Given the description of an element on the screen output the (x, y) to click on. 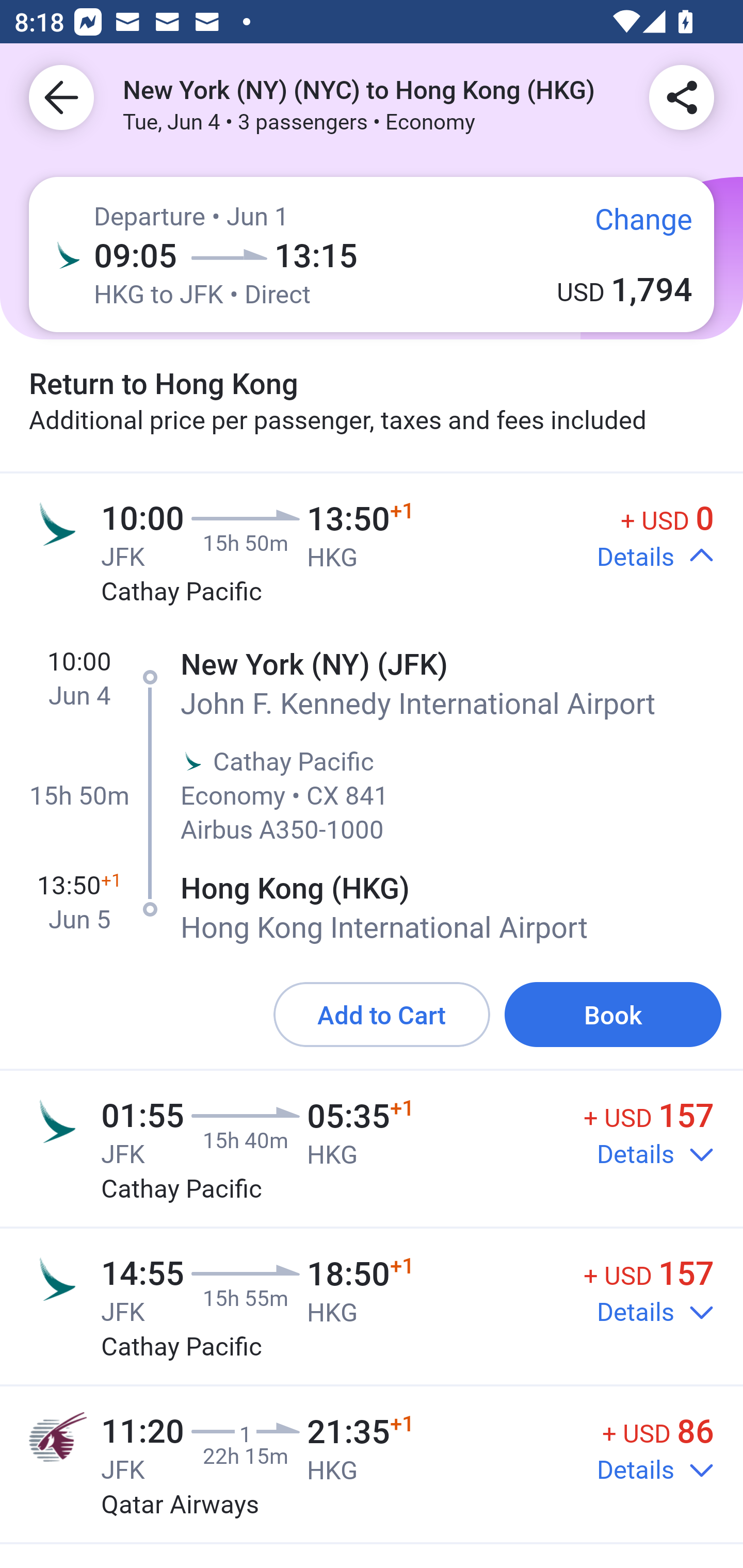
Change (629, 225)
Add to Cart (381, 1014)
Book (612, 1014)
